Given the description of an element on the screen output the (x, y) to click on. 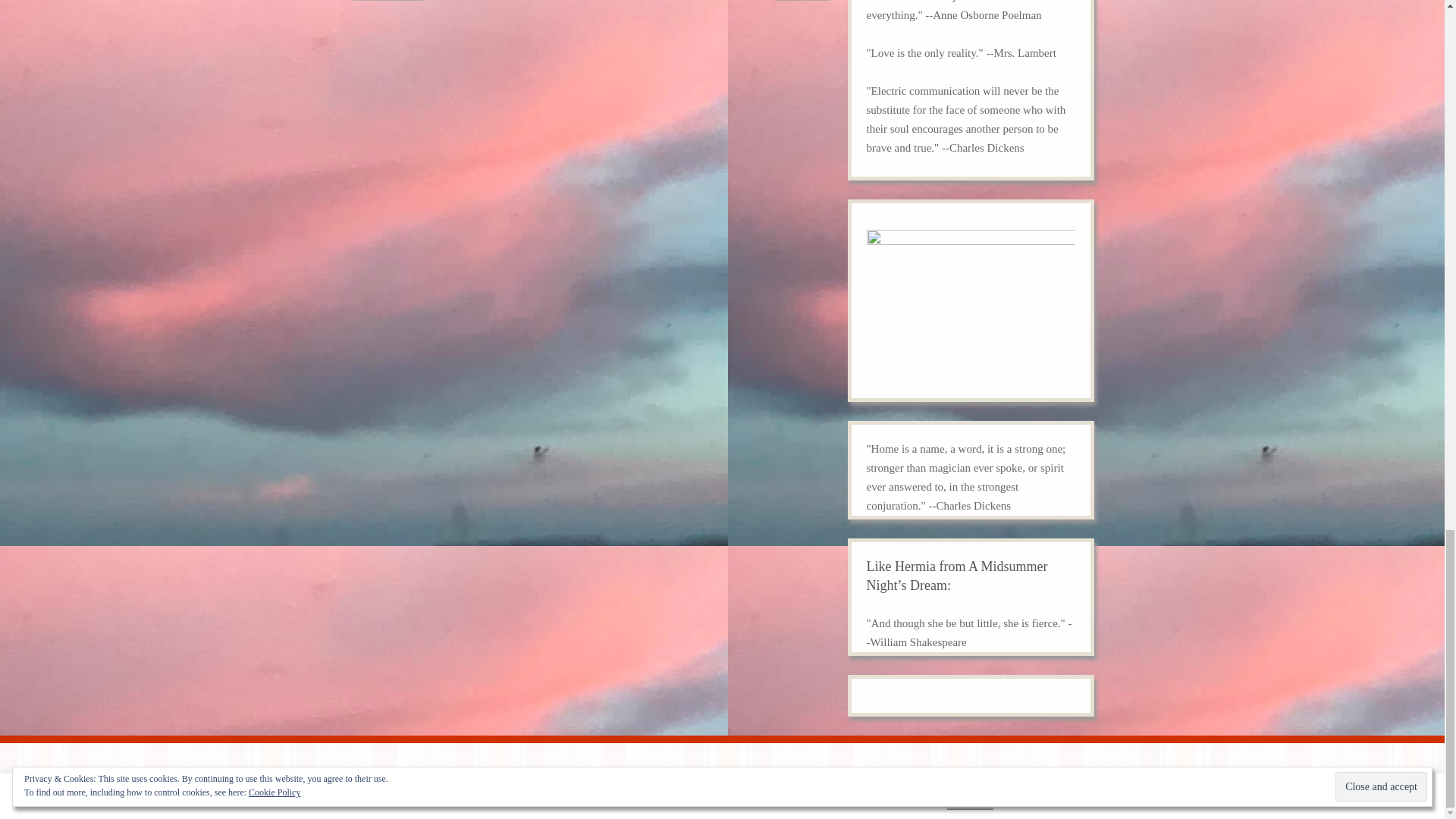
State-of-the-art semantic personal publishing platform (984, 780)
WordPress (984, 780)
Flowers in my garden. Night primrose, I think. (970, 307)
Retro-fitted WordPress Theme (1061, 780)
Jennifer Griffith (481, 780)
Retro-fitted (1061, 780)
Jennifer Griffith (481, 780)
